Given the description of an element on the screen output the (x, y) to click on. 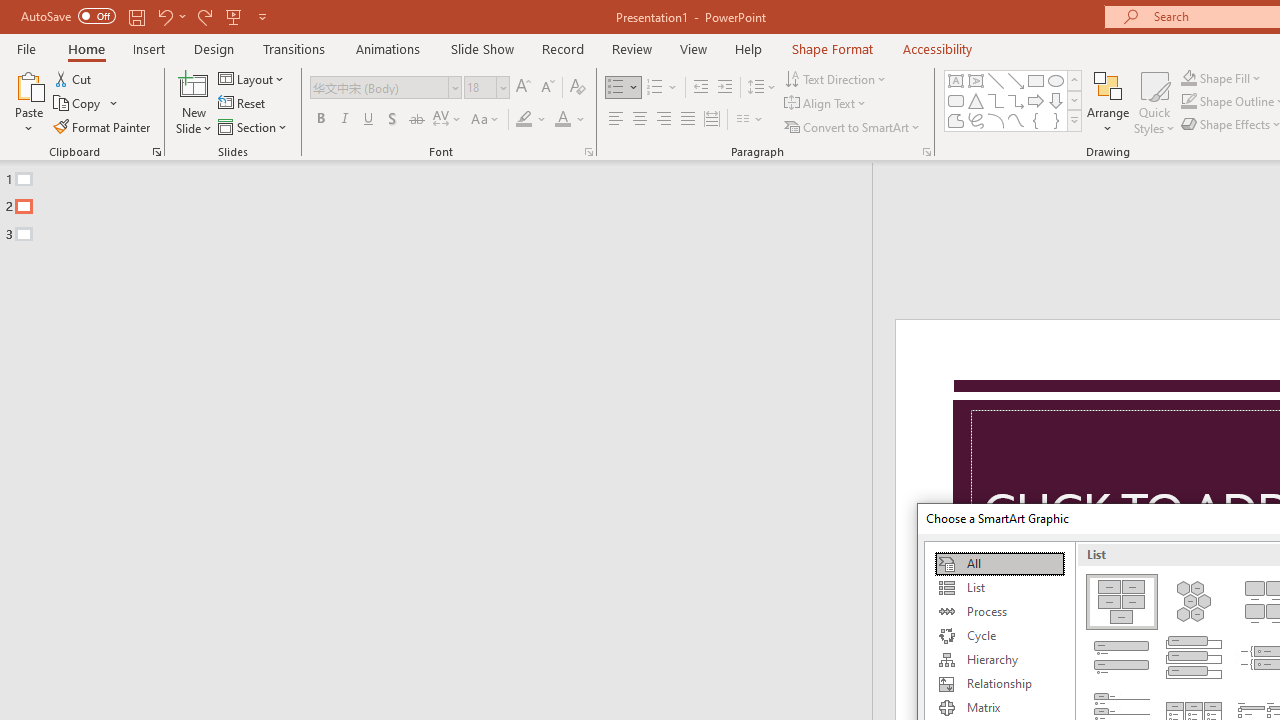
Relationship (999, 683)
